Given the description of an element on the screen output the (x, y) to click on. 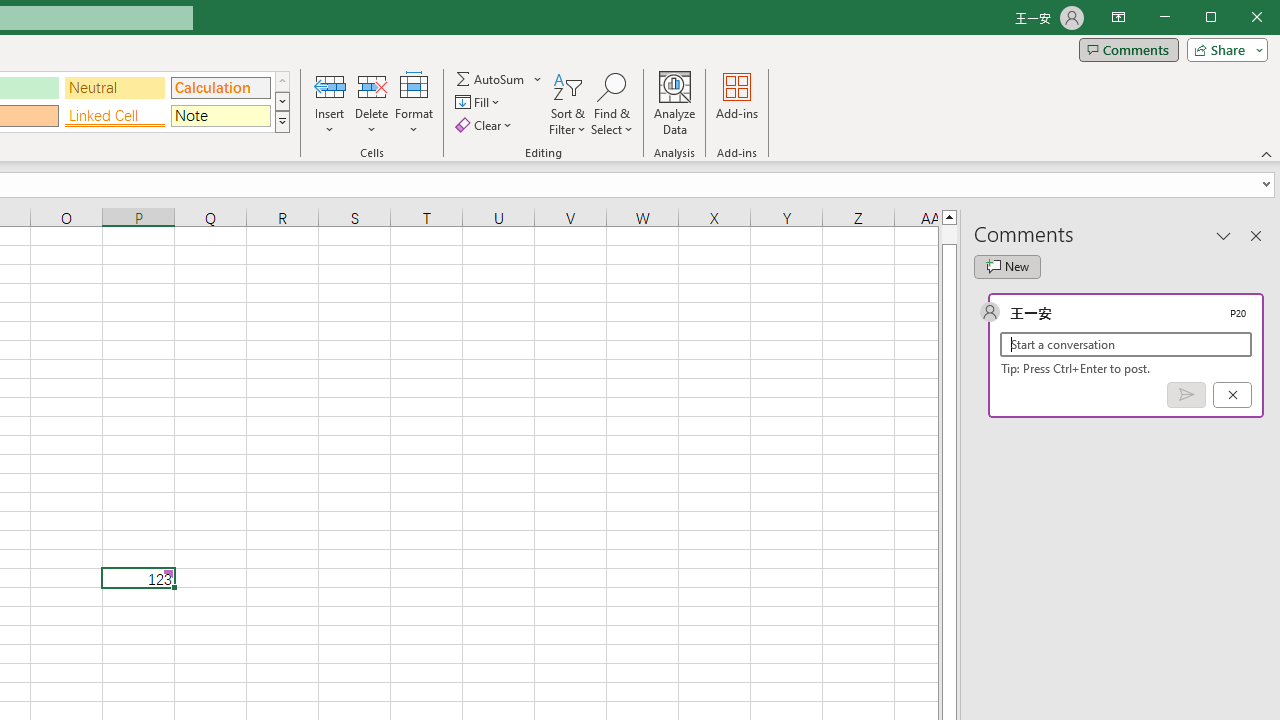
Page up (948, 234)
Insert Cells (329, 86)
Sum (491, 78)
Post comment (Ctrl + Enter) (1186, 395)
Row up (282, 81)
AutoSum (498, 78)
Clear (484, 124)
Row Down (282, 101)
Delete Cells... (371, 86)
Delete (371, 104)
Linked Cell (114, 116)
